Given the description of an element on the screen output the (x, y) to click on. 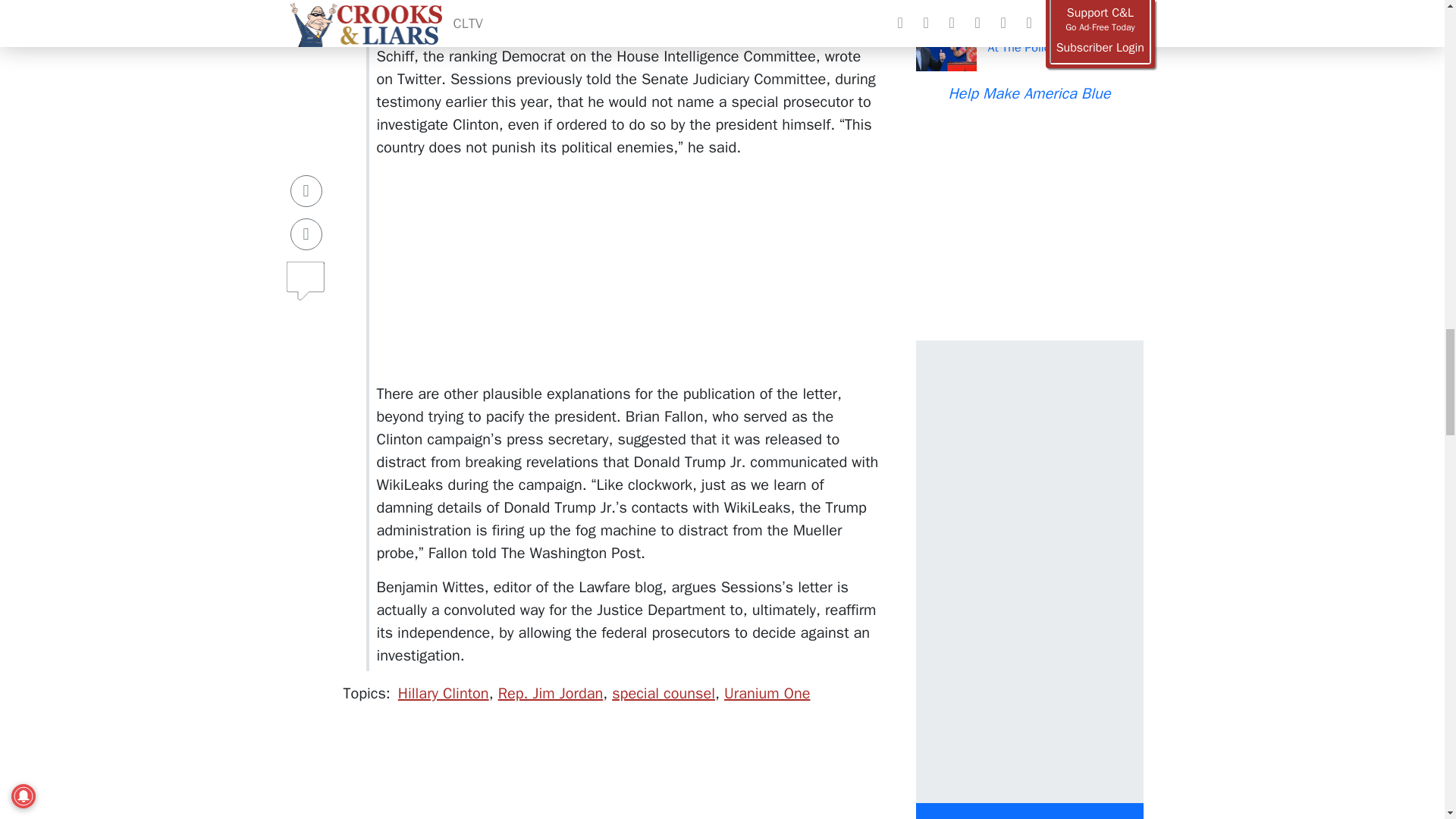
Rep. Jim Jordan (550, 692)
Hillary Clinton (443, 692)
Uranium One (766, 692)
special counsel (662, 692)
